Given the description of an element on the screen output the (x, y) to click on. 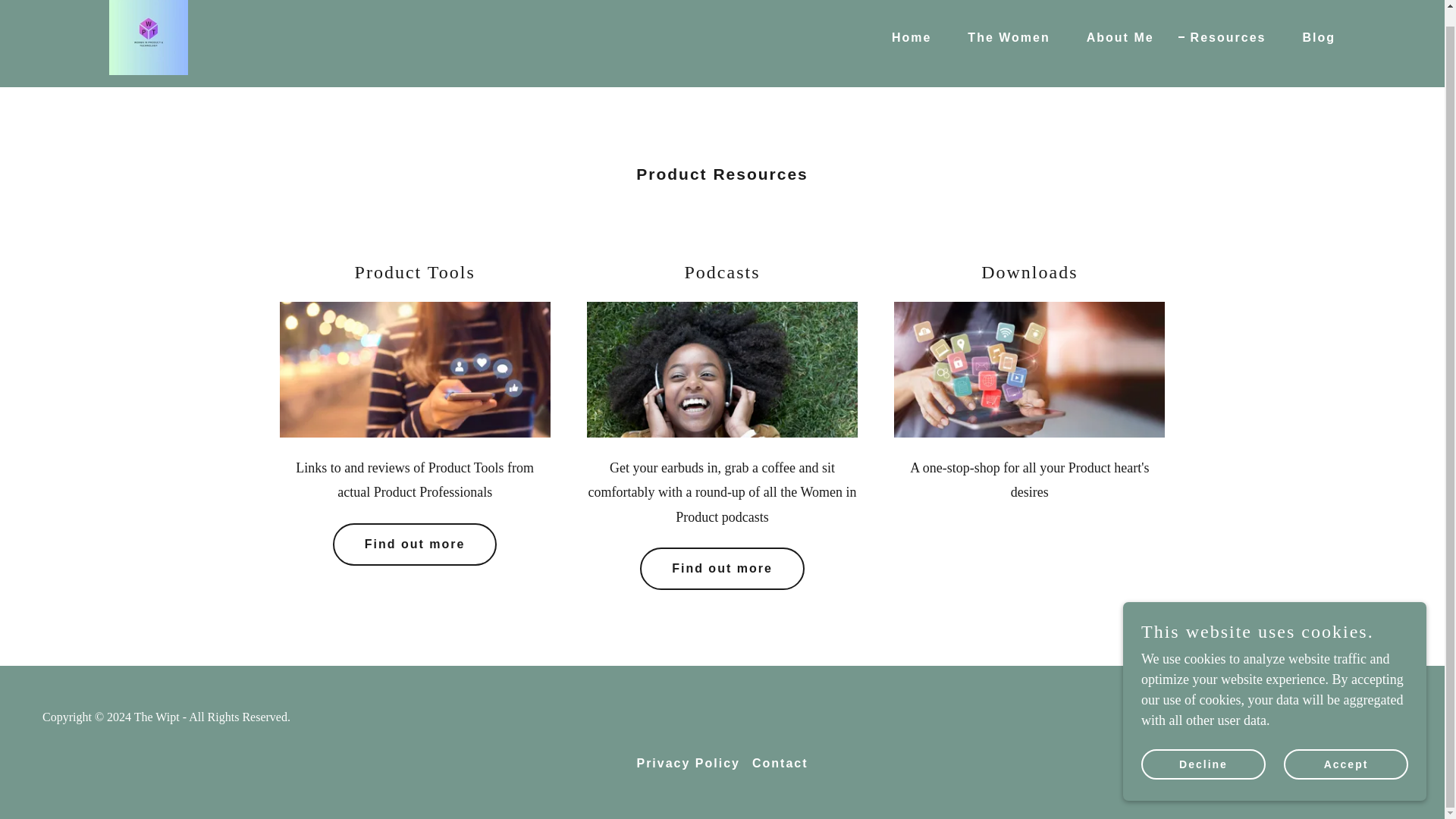
The WiPT (148, 33)
About Me (1114, 36)
Decline (1203, 748)
Accept (1345, 748)
Resources (1221, 36)
Blog (1312, 36)
Find out more (415, 544)
The Women (1002, 36)
GoDaddy (1297, 716)
Home (905, 36)
